Given the description of an element on the screen output the (x, y) to click on. 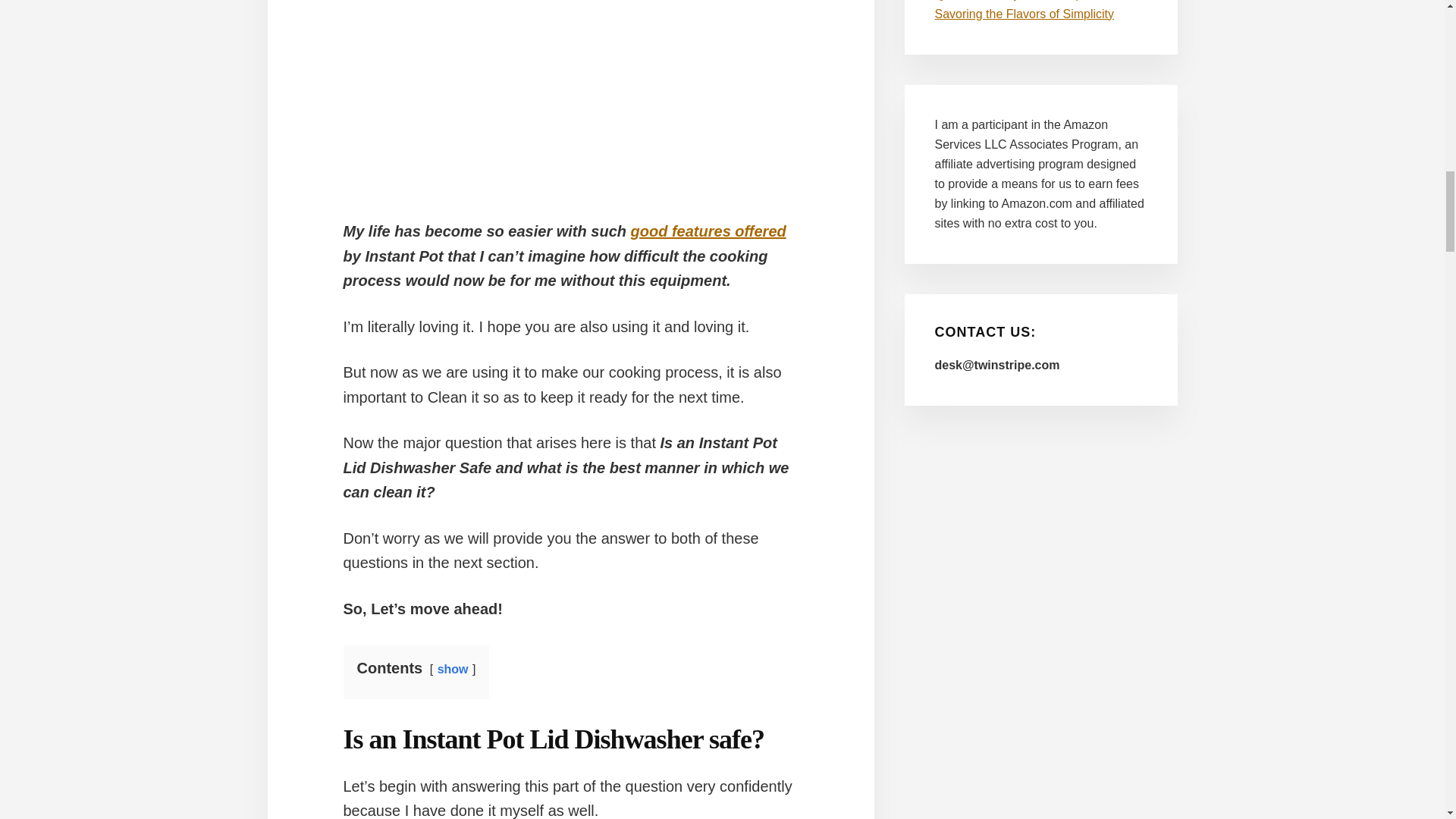
good features offered (708, 230)
show (453, 668)
